Given the description of an element on the screen output the (x, y) to click on. 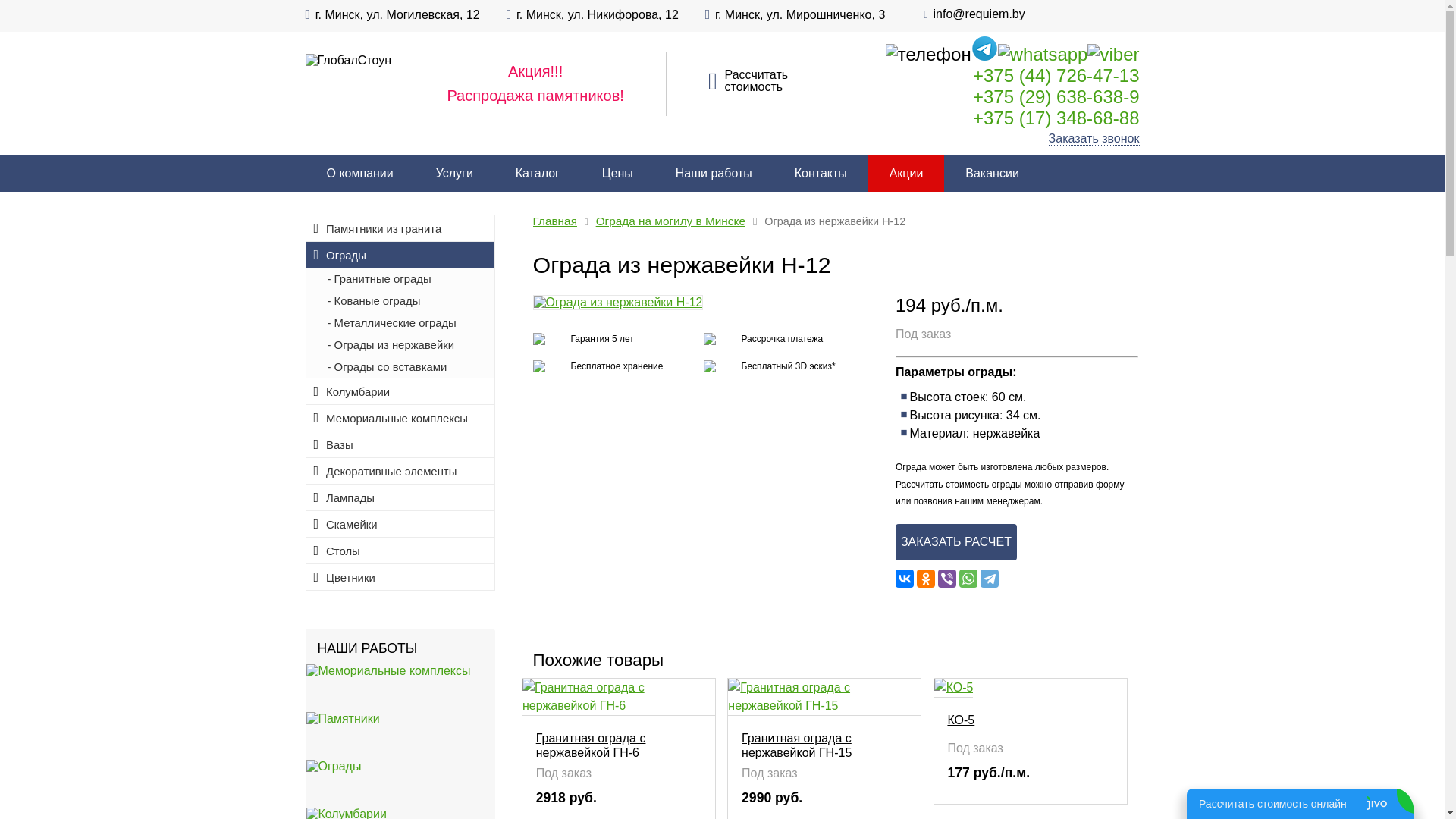
+375 (44) 726-47-13 Element type: text (1055, 75)
+375 (29) 638-638-9 Element type: text (1055, 96)
+375 (17) 348-68-88 Element type: text (1055, 117)
WhatsApp Element type: hover (968, 578)
Telegram Element type: hover (989, 578)
Viber Element type: hover (947, 578)
info@requiem.by Element type: text (979, 14)
